Given the description of an element on the screen output the (x, y) to click on. 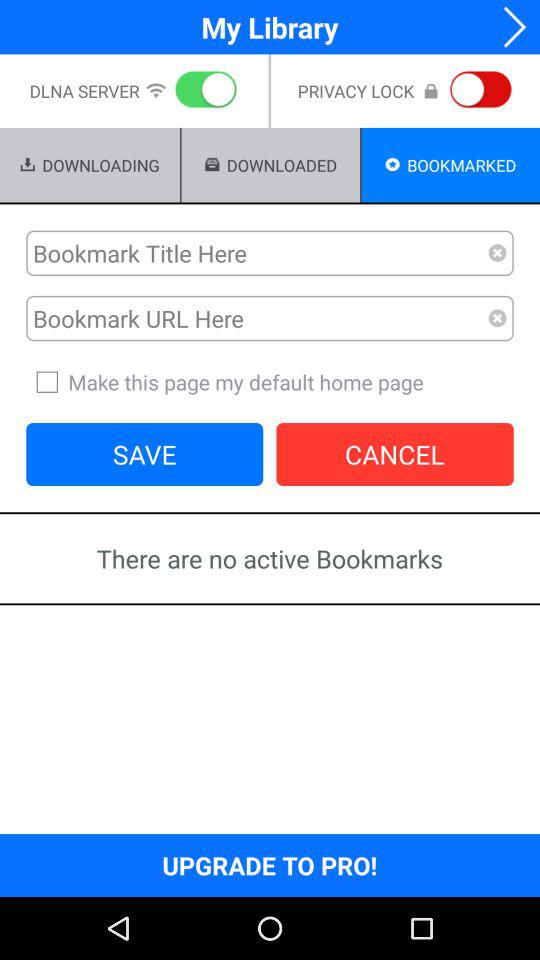
url address (257, 318)
